Given the description of an element on the screen output the (x, y) to click on. 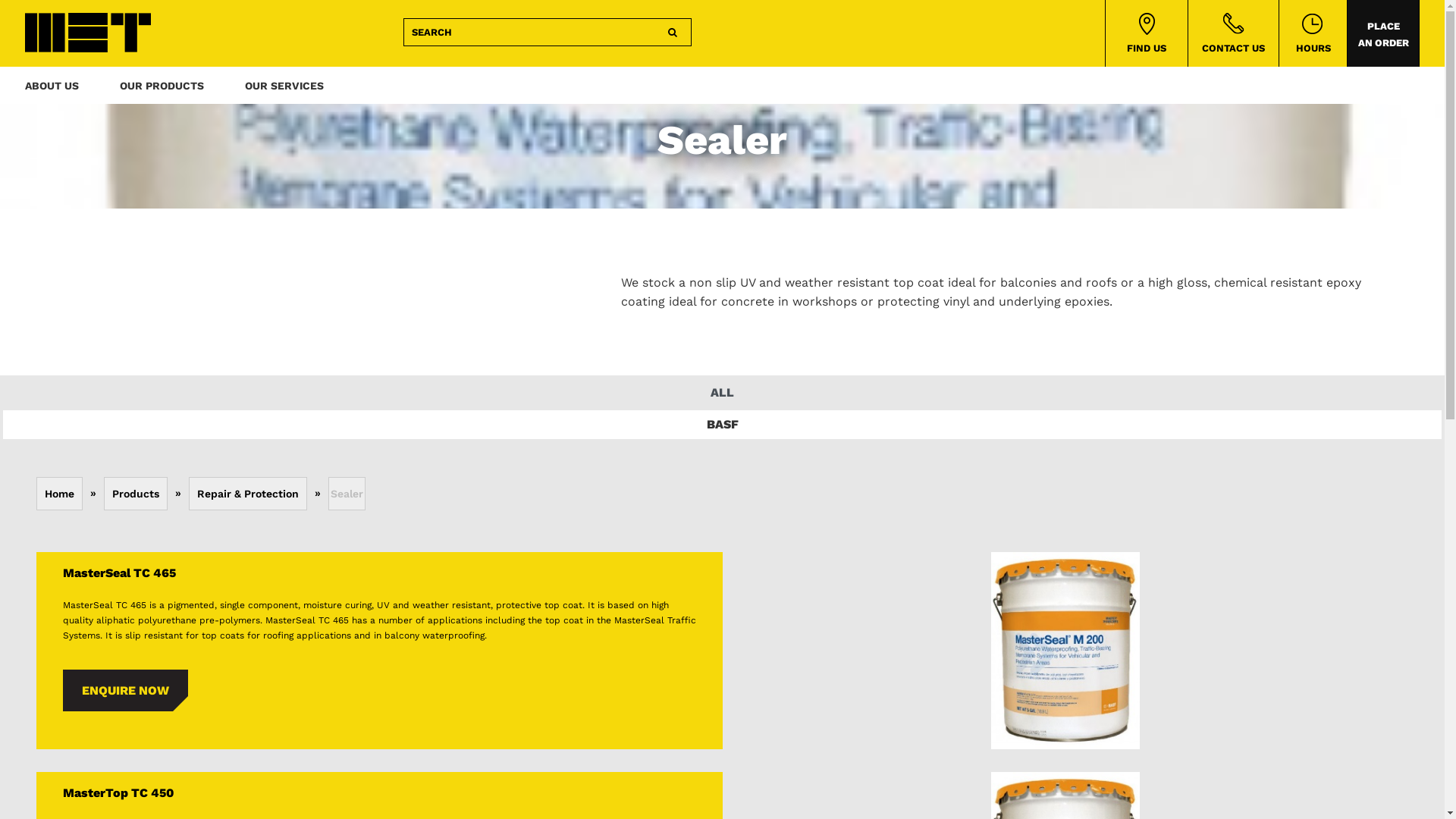
OUR SERVICES Element type: text (283, 90)
Products Element type: text (134, 493)
Home Element type: text (59, 493)
ABOUT US Element type: text (51, 90)
ENQUIRE NOW Element type: text (124, 690)
MET TEXO - Home Element type: hover (87, 31)
ALL Element type: text (722, 391)
BASF Element type: text (722, 423)
Repair & Protection Element type: text (247, 493)
OUR PRODUCTS Element type: text (161, 90)
